Given the description of an element on the screen output the (x, y) to click on. 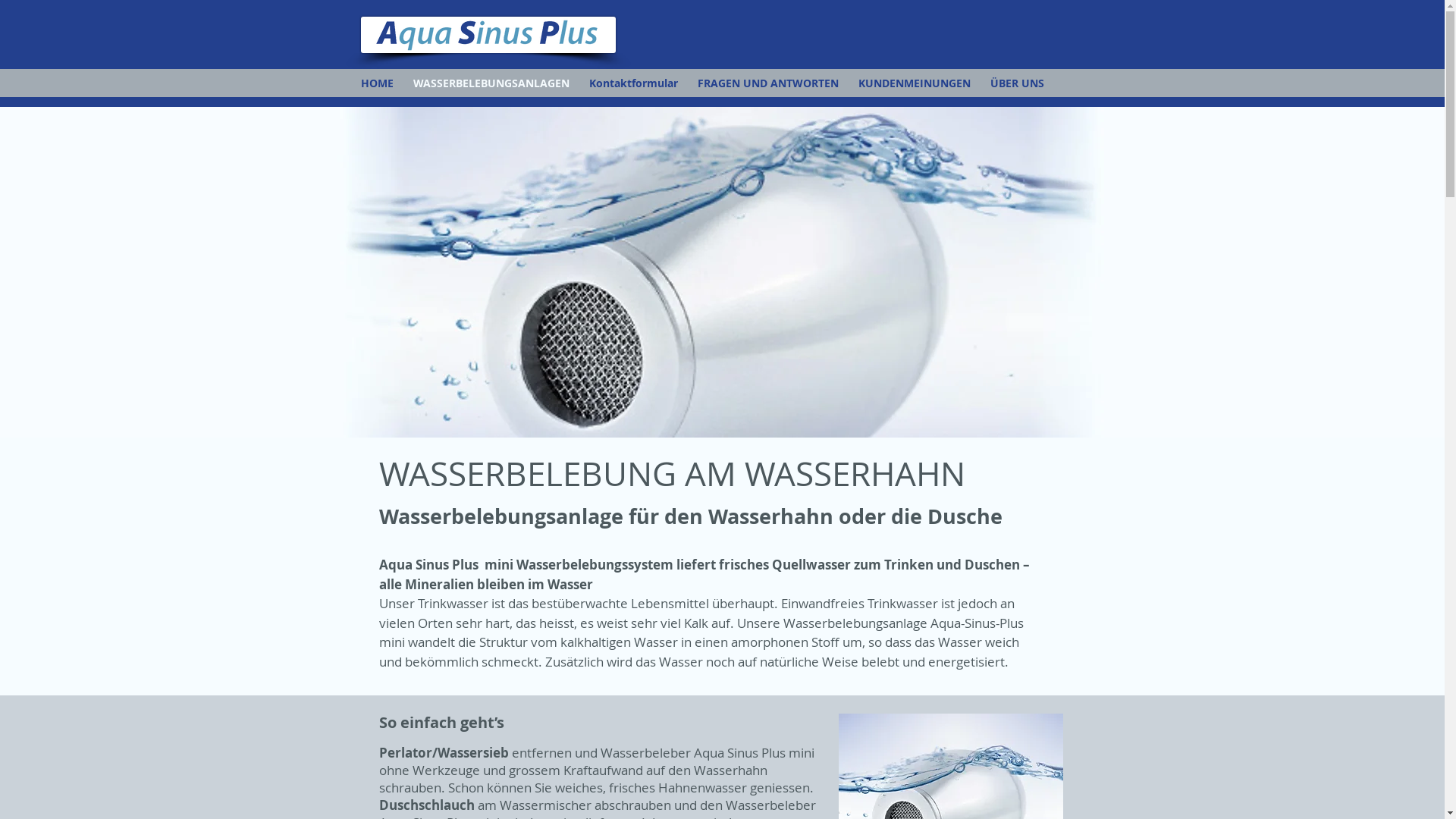
FRAGEN UND ANTWORTEN Element type: text (767, 83)
KUNDENMEINUNGEN Element type: text (913, 83)
WASSERBELEBUNGSANLAGEN Element type: text (491, 83)
Kontaktformular Element type: text (633, 83)
Aqua-Sinus-Plus-Logo-Original.png Element type: hover (487, 34)
HOME Element type: text (376, 83)
